Given the description of an element on the screen output the (x, y) to click on. 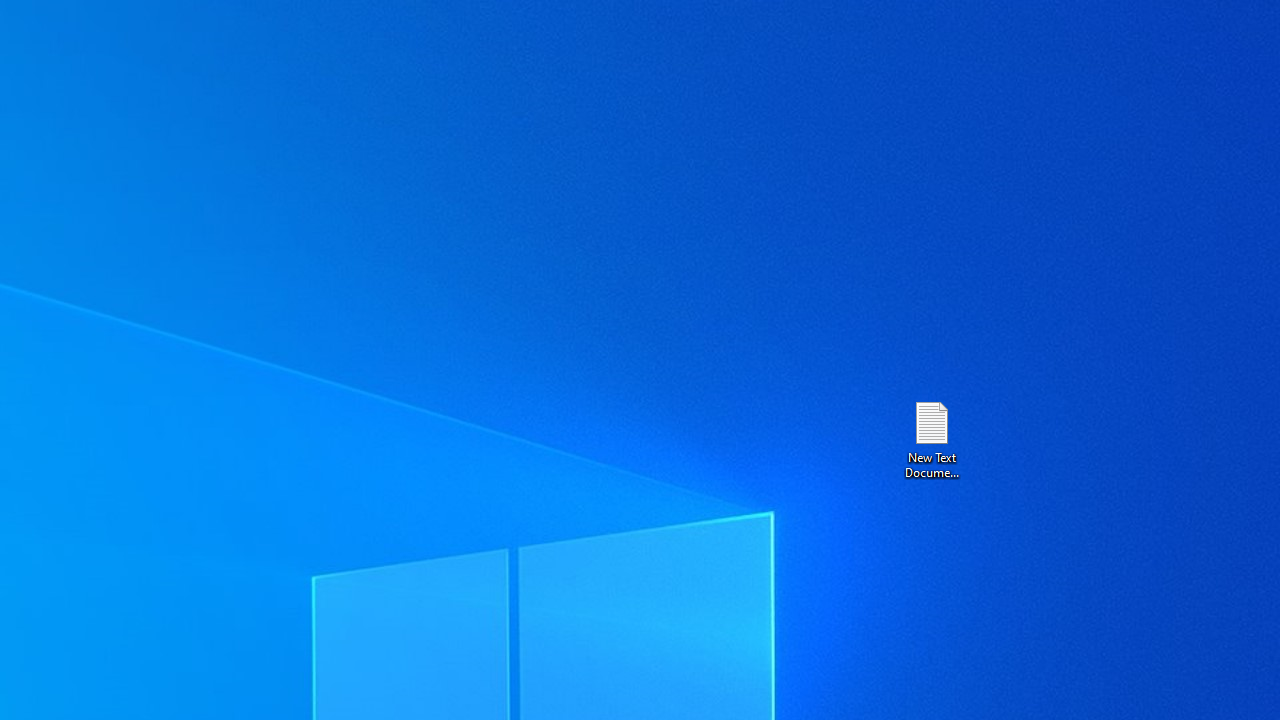
New Text Document (2) (931, 438)
